Given the description of an element on the screen output the (x, y) to click on. 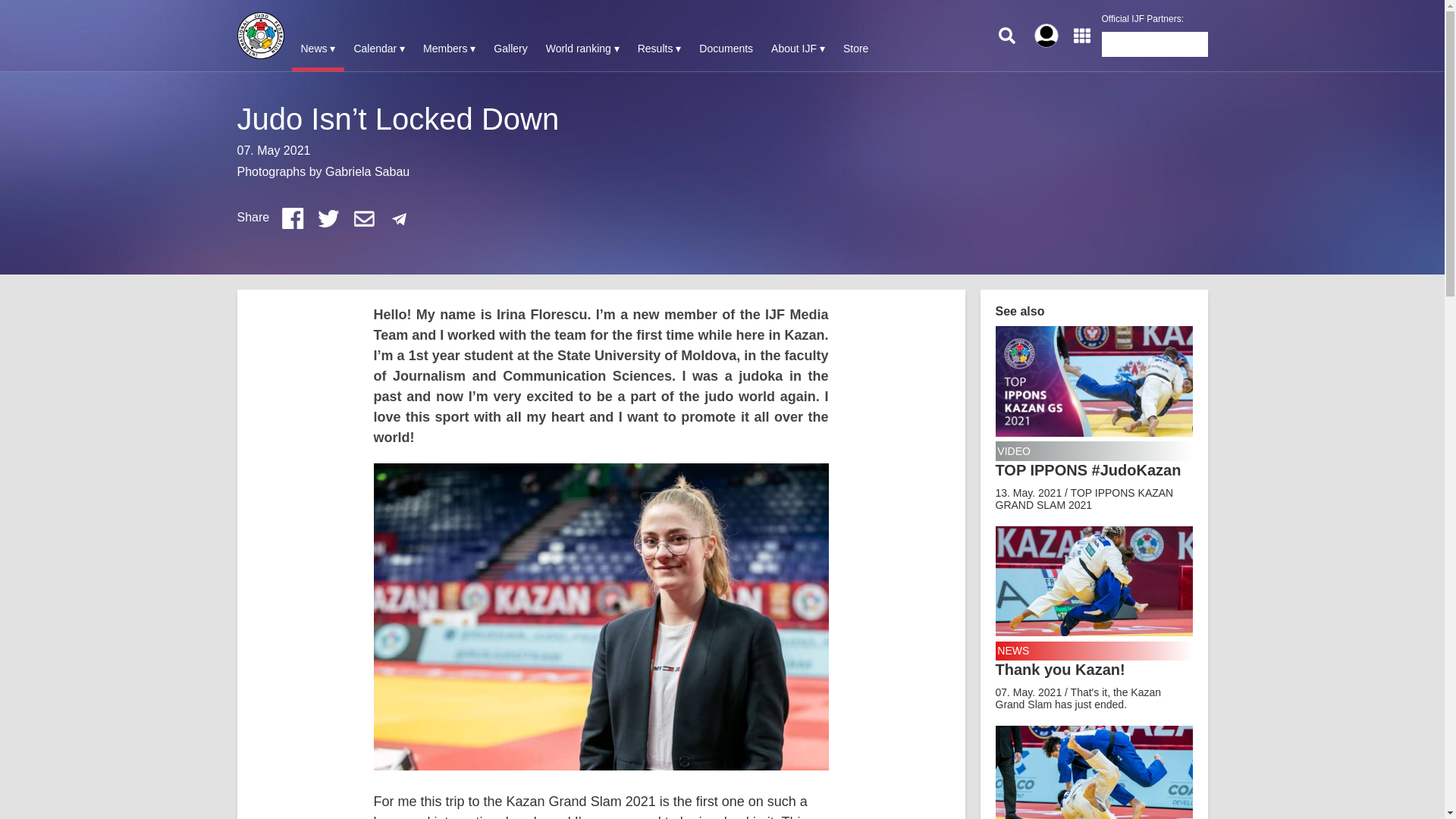
Documents (725, 49)
Store (855, 49)
Gallery (509, 49)
